Given the description of an element on the screen output the (x, y) to click on. 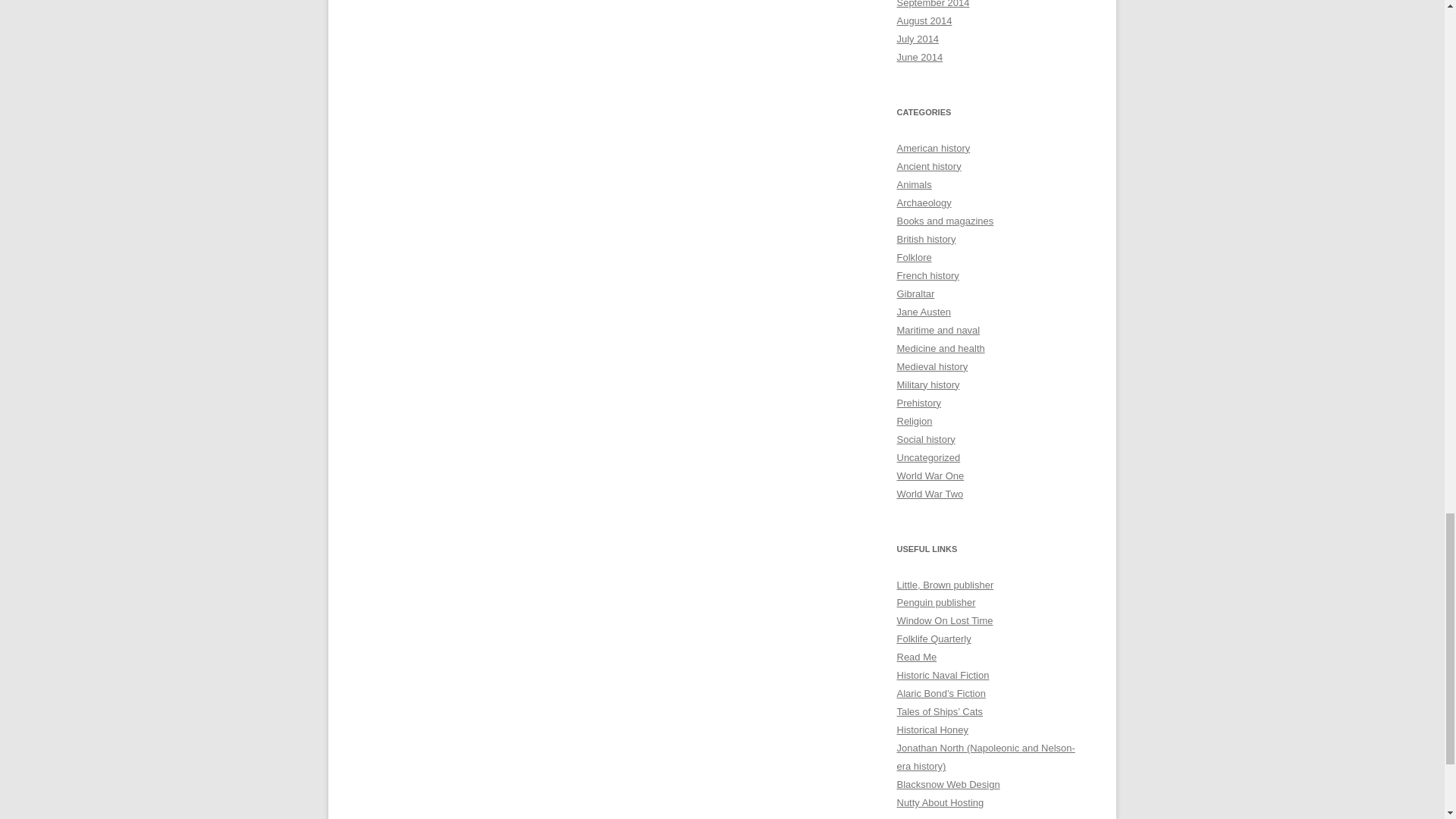
Our books with Viking Penguin in the US (935, 602)
Great books to read (916, 656)
Websites, web apps, desktop applications and databases (947, 784)
Lively often quirky history pieces (932, 729)
Folk tradition, events, clubs, venues (933, 638)
Age of sail fiction and some non-fiction (942, 674)
Beautiful photography of time and place (944, 620)
Our books with Little, Brown in UK (944, 584)
